Given the description of an element on the screen output the (x, y) to click on. 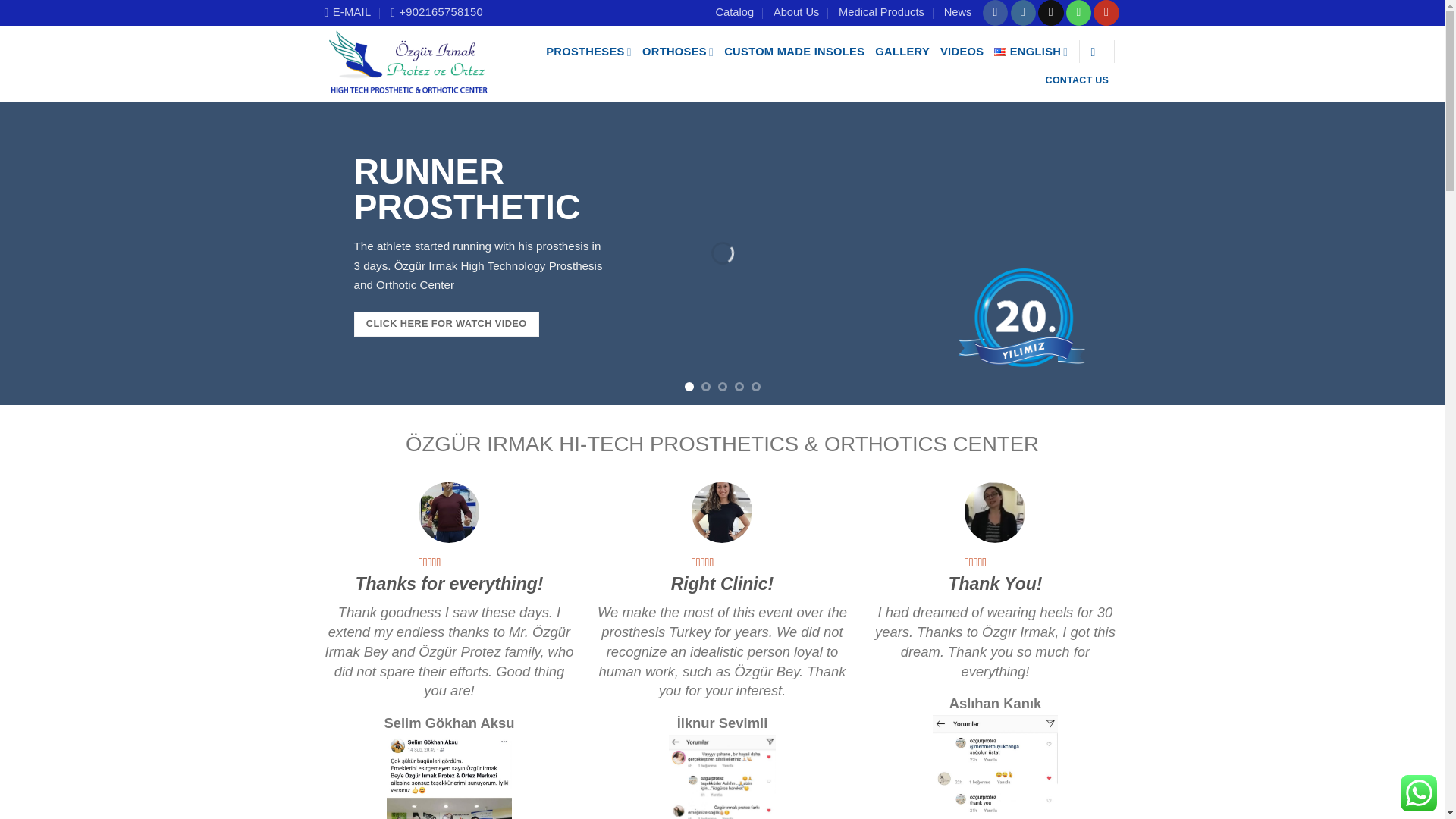
Catalog (734, 12)
PROSTHESES (588, 52)
About Us (795, 12)
Medical Products (881, 12)
News (957, 12)
E-MAIL (347, 12)
